Given the description of an element on the screen output the (x, y) to click on. 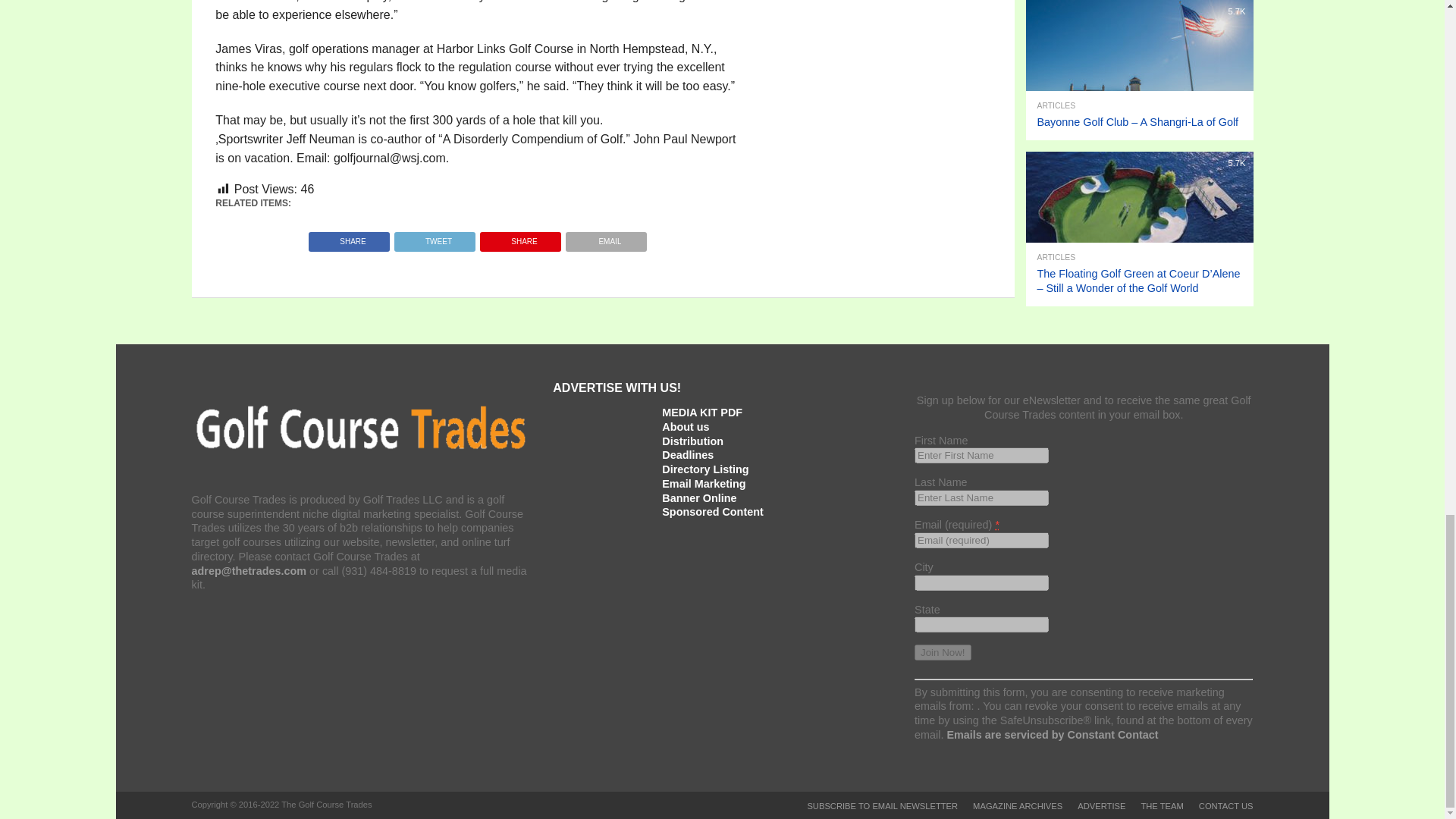
Tweet This Post (434, 237)
Pin This Post (520, 237)
Join Now! (942, 652)
Share on Facebook (349, 237)
